Given the description of an element on the screen output the (x, y) to click on. 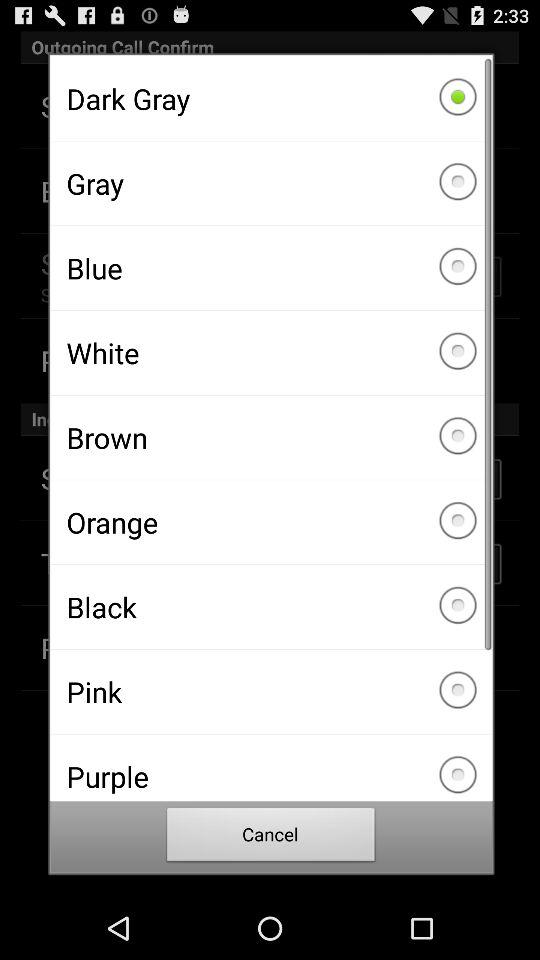
tap the icon below the purple icon (271, 837)
